Given the description of an element on the screen output the (x, y) to click on. 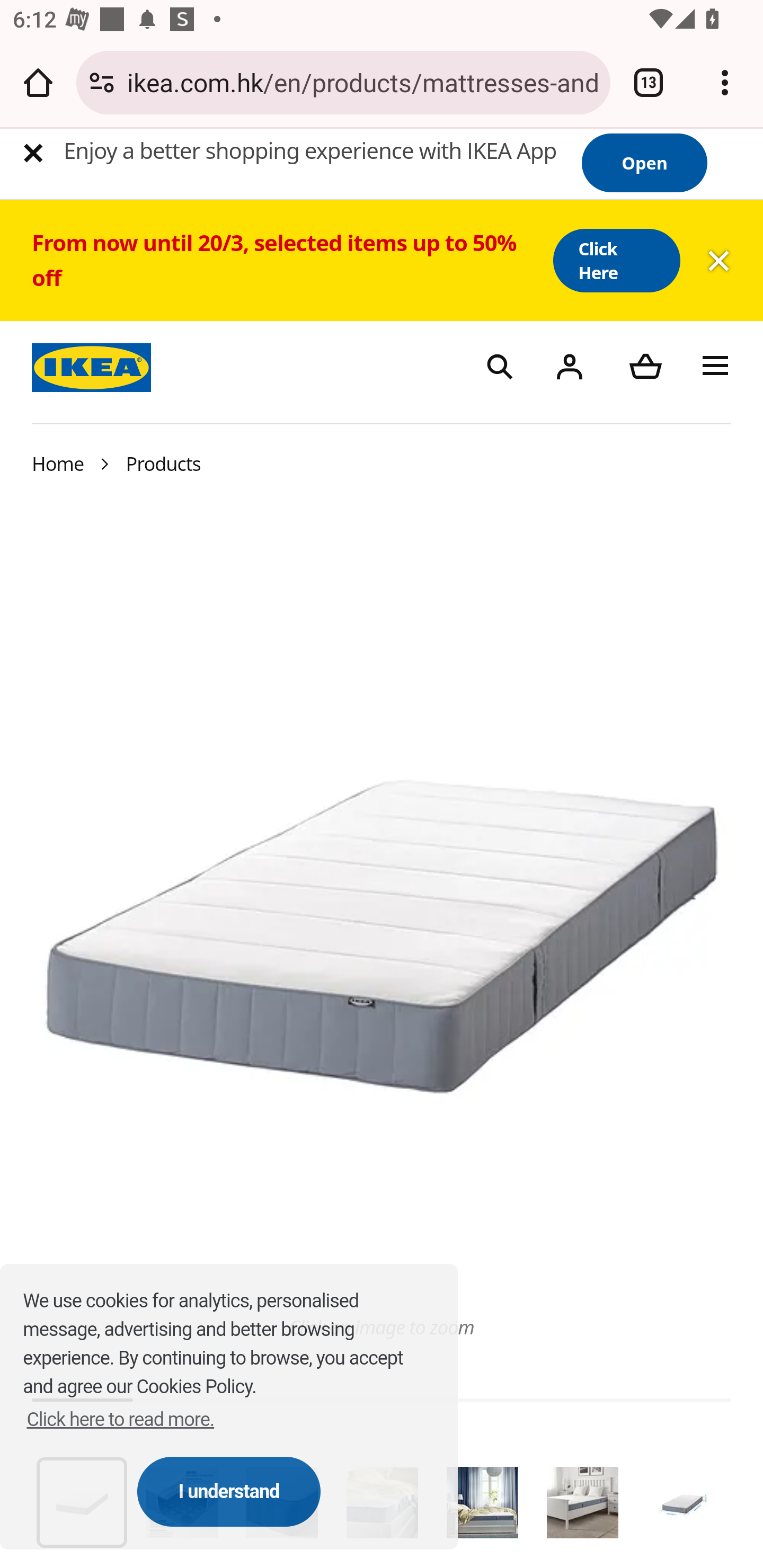
Open the home page (38, 82)
Connection is secure (101, 82)
Switch or close tabs (648, 82)
Customize and control Google Chrome (724, 82)
Close (32, 152)
Open (644, 162)
Click Here (615, 259)
IKEA (94, 365)
 (569, 364)
 (645, 364)
Home (57, 463)
Products (163, 463)
learn more about cookies (120, 1418)
dismiss cookie message (228, 1491)
